Given the description of an element on the screen output the (x, y) to click on. 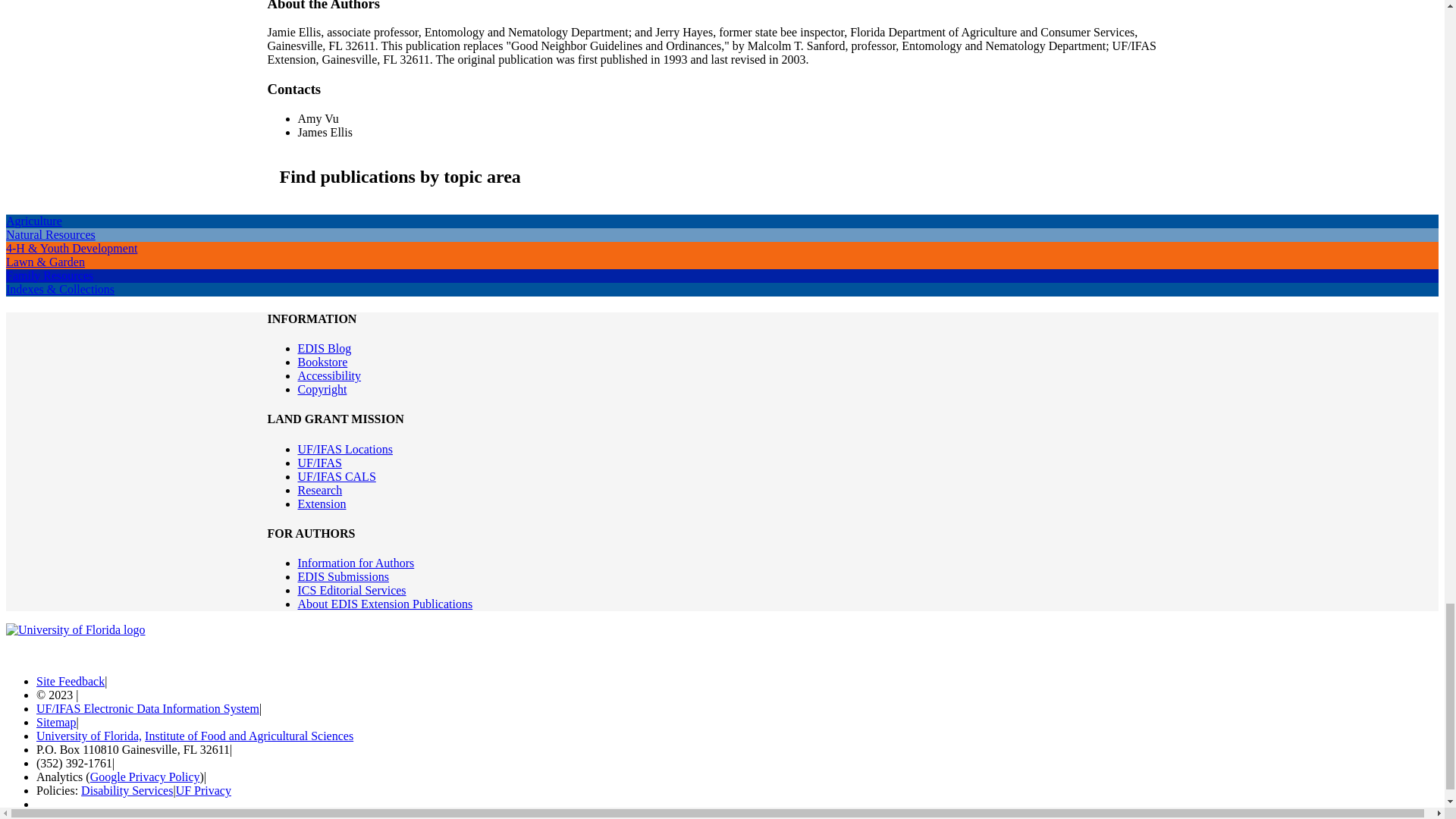
Copyright (321, 389)
Family Resources (49, 275)
Author Resources (355, 562)
Accessibility (329, 375)
Agriculture (33, 220)
Bookstore (322, 361)
College of Agricultural and Life Sciences (336, 476)
EDIS Blog (323, 348)
EDIS Blog (323, 348)
Natural Resources (50, 234)
